Given the description of an element on the screen output the (x, y) to click on. 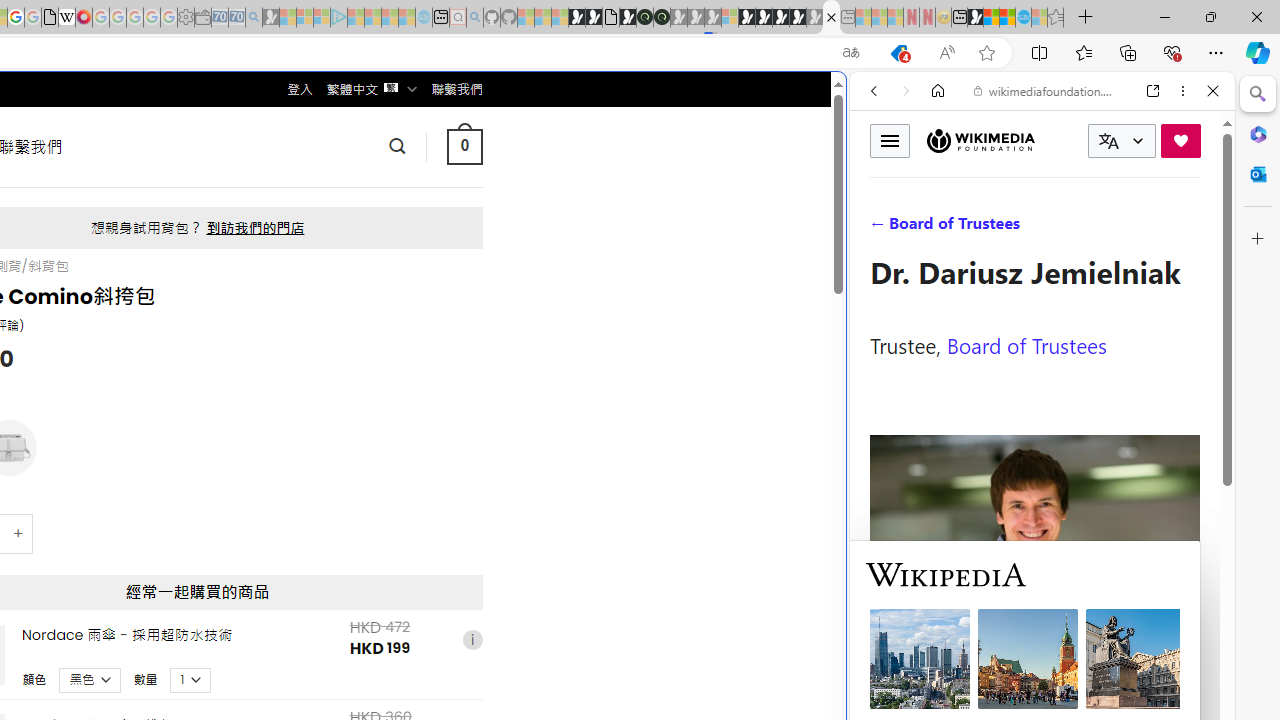
i (472, 639)
Search or enter web address (343, 191)
